Given the description of an element on the screen output the (x, y) to click on. 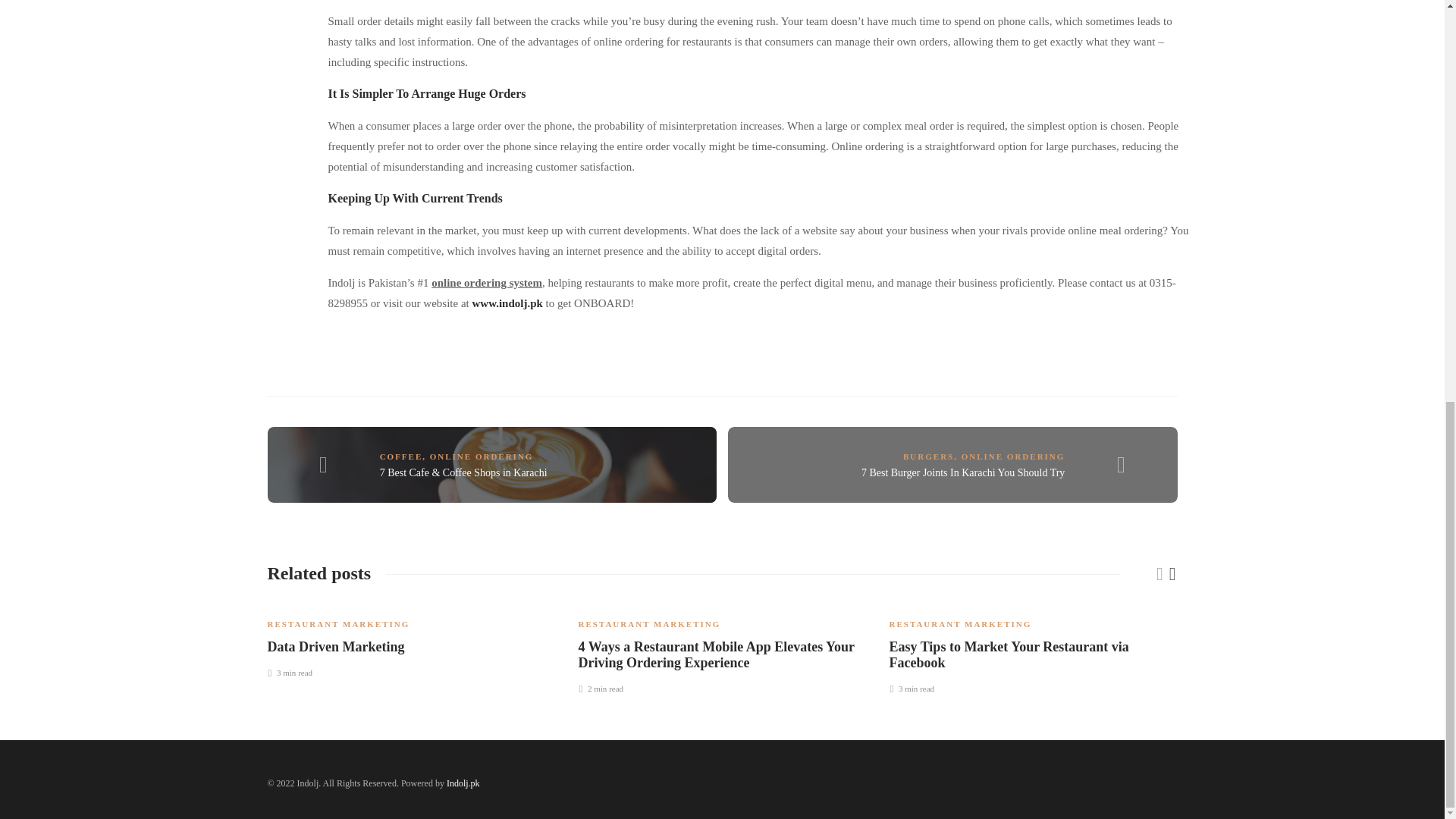
7 Best Burger Joints In Karachi You Should Try (963, 472)
ONLINE ORDERING (1012, 456)
COFFEE (401, 456)
BURGERS (927, 456)
ONLINE ORDERING (481, 456)
www.indolj.pk (506, 303)
